Given the description of an element on the screen output the (x, y) to click on. 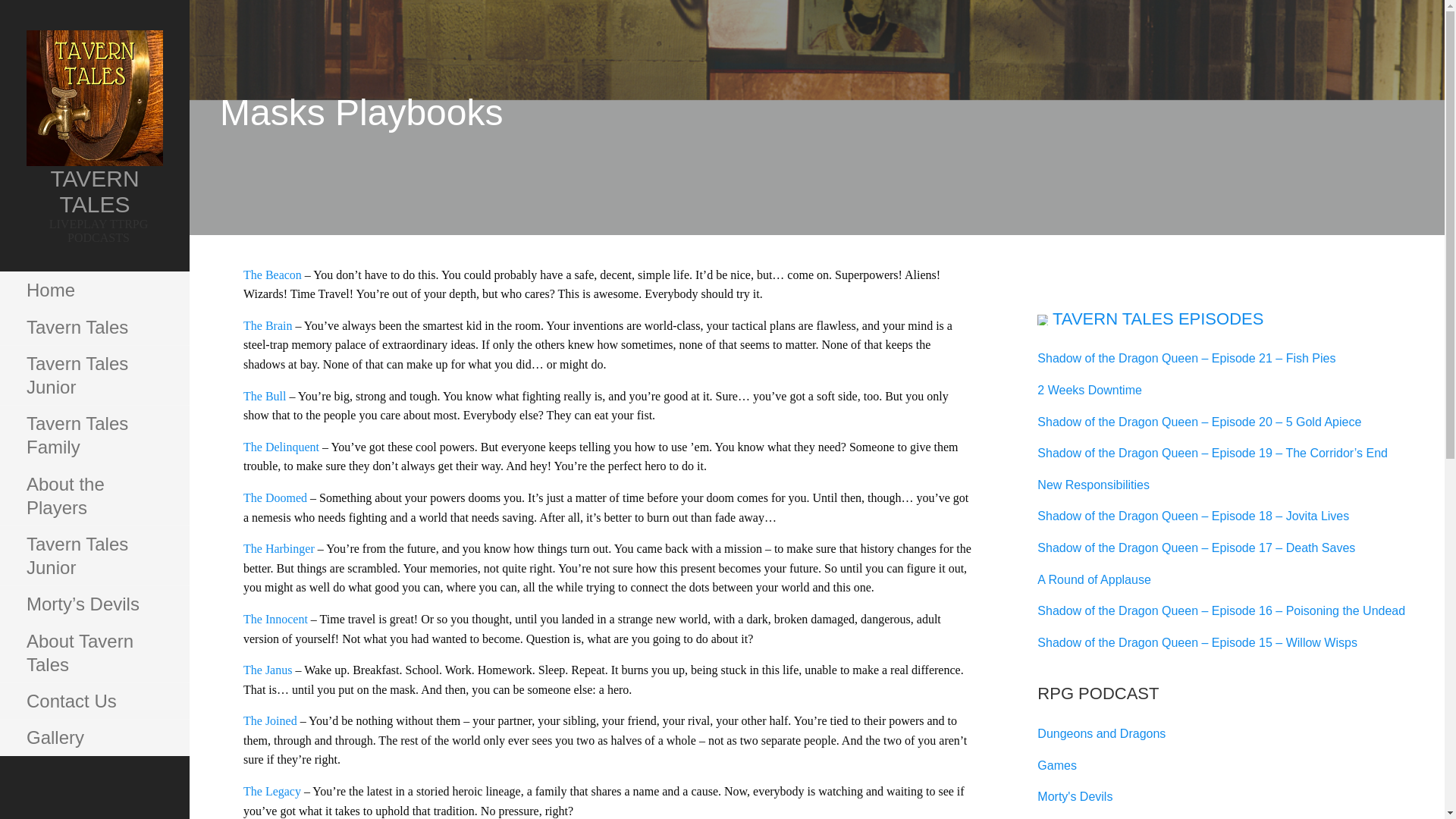
TAVERN TALES (93, 191)
Tavern Tales Family (94, 435)
About the Players (94, 496)
Tavern Tales Junior (94, 375)
Home (94, 289)
Tavern Tales (94, 327)
